Given the description of an element on the screen output the (x, y) to click on. 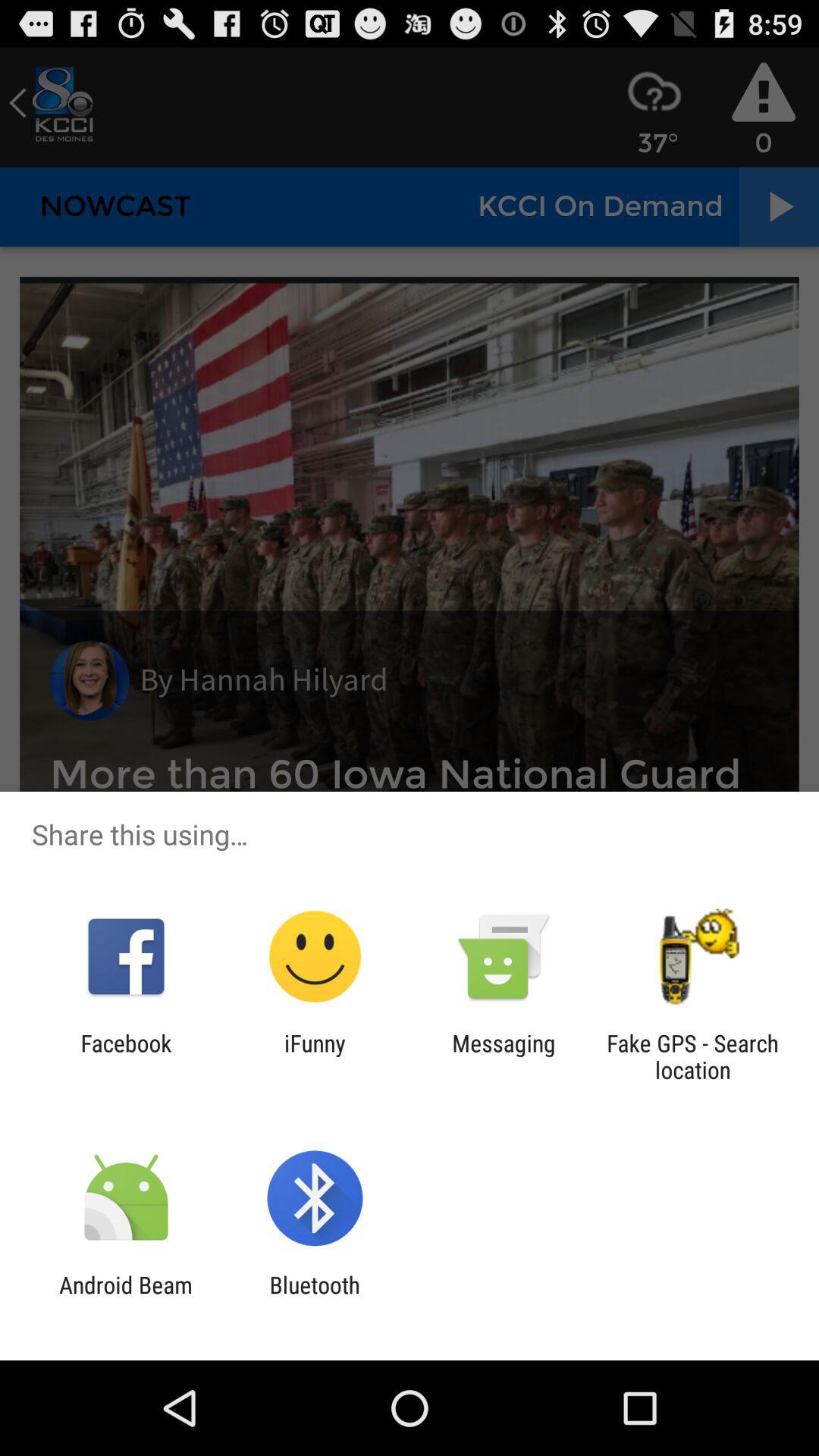
tap bluetooth item (314, 1298)
